Given the description of an element on the screen output the (x, y) to click on. 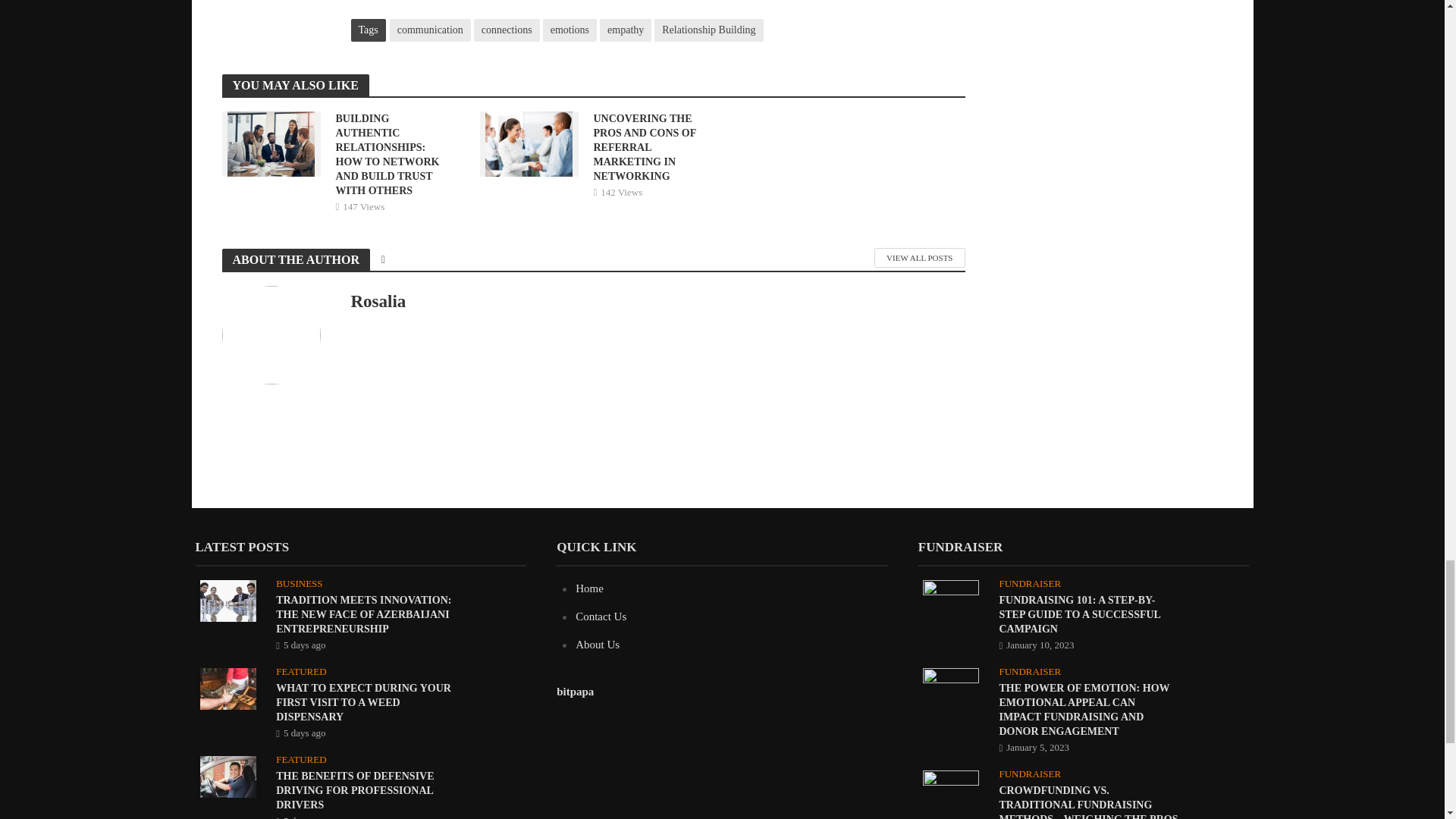
communication (430, 29)
connections (507, 29)
The Benefits of Defensive Driving for Professional Drivers (228, 775)
What to Expect During Your First Visit to a Weed Dispensary (228, 687)
VIEW ALL POSTS (919, 257)
empathy (624, 29)
Relationship Building (707, 29)
emotions (569, 29)
